Given the description of an element on the screen output the (x, y) to click on. 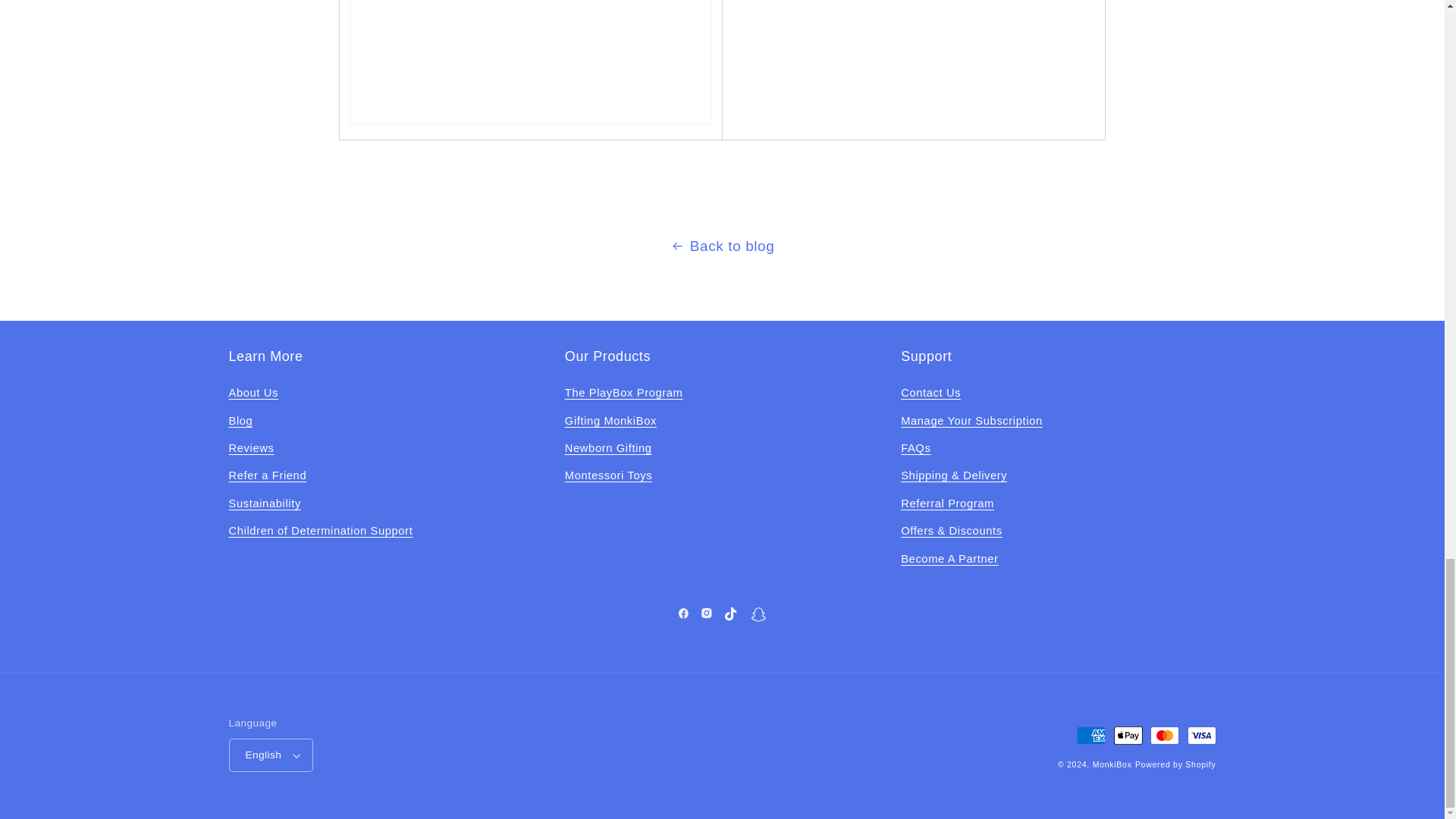
About Us (253, 395)
